Given the description of an element on the screen output the (x, y) to click on. 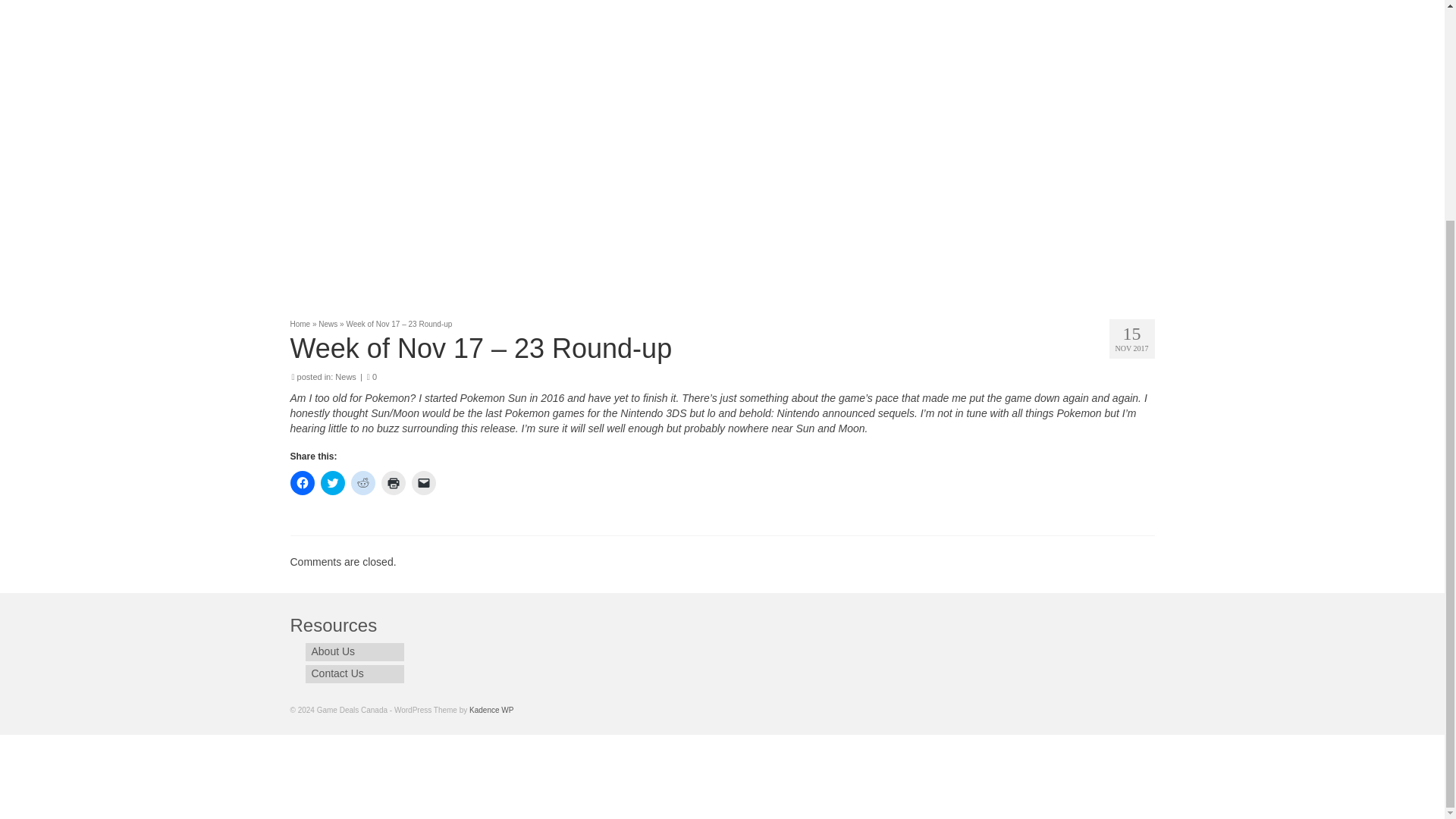
Home (299, 324)
Click to email a link to a friend (422, 482)
About Us (353, 651)
0 (371, 376)
Click to share on Reddit (362, 482)
News (327, 324)
News (345, 376)
Click to share on Twitter (331, 482)
Kadence WP (490, 709)
Click to print (392, 482)
Contact Us (353, 674)
Click to share on Facebook (301, 482)
